Given the description of an element on the screen output the (x, y) to click on. 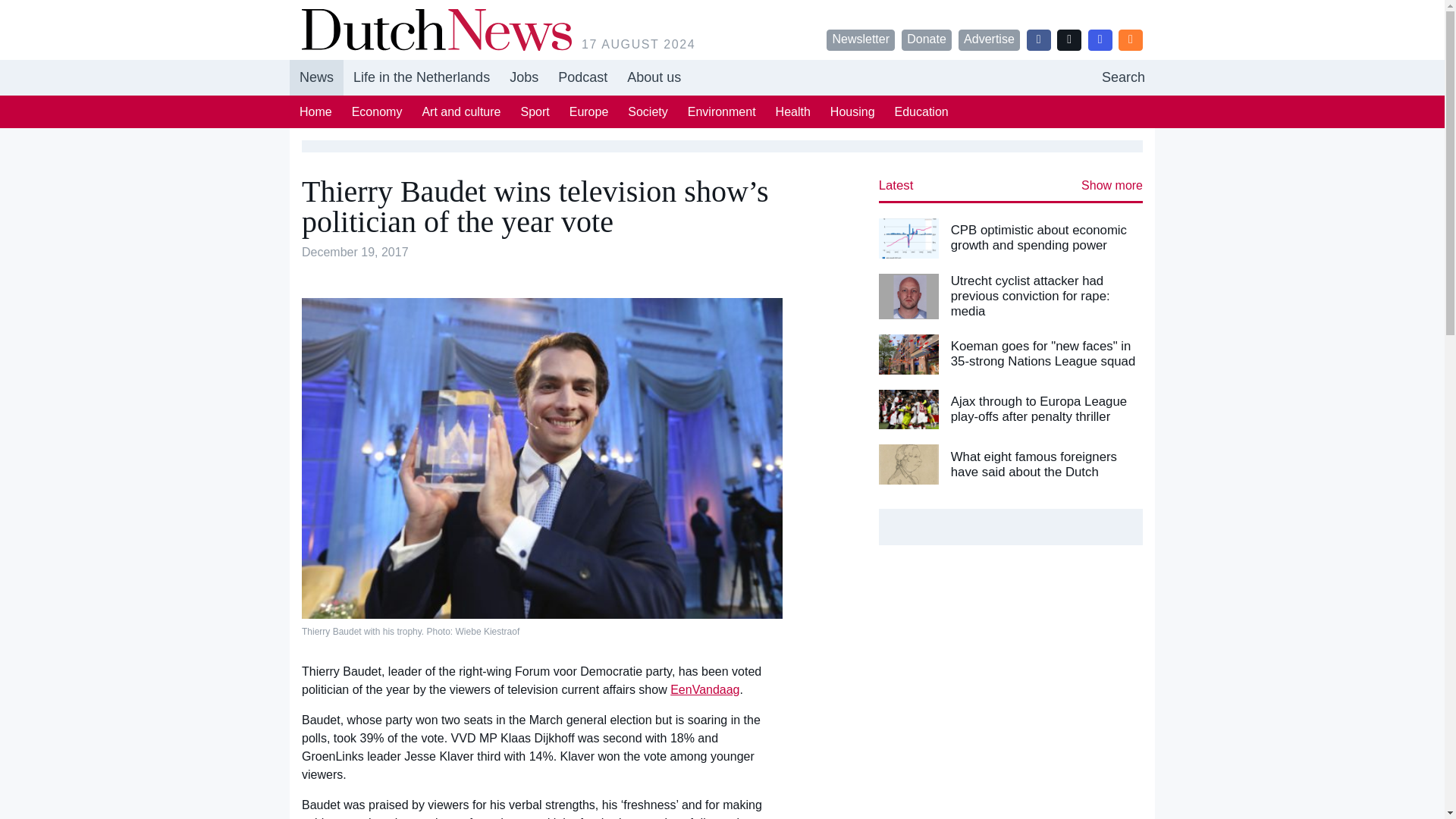
Health (793, 111)
Newsletter (861, 39)
Europe (588, 111)
Life in the Netherlands (421, 77)
News (316, 77)
Education (921, 111)
hidden-in-footer (582, 77)
hidden-in-footer (523, 77)
Podcast (721, 77)
